Given the description of an element on the screen output the (x, y) to click on. 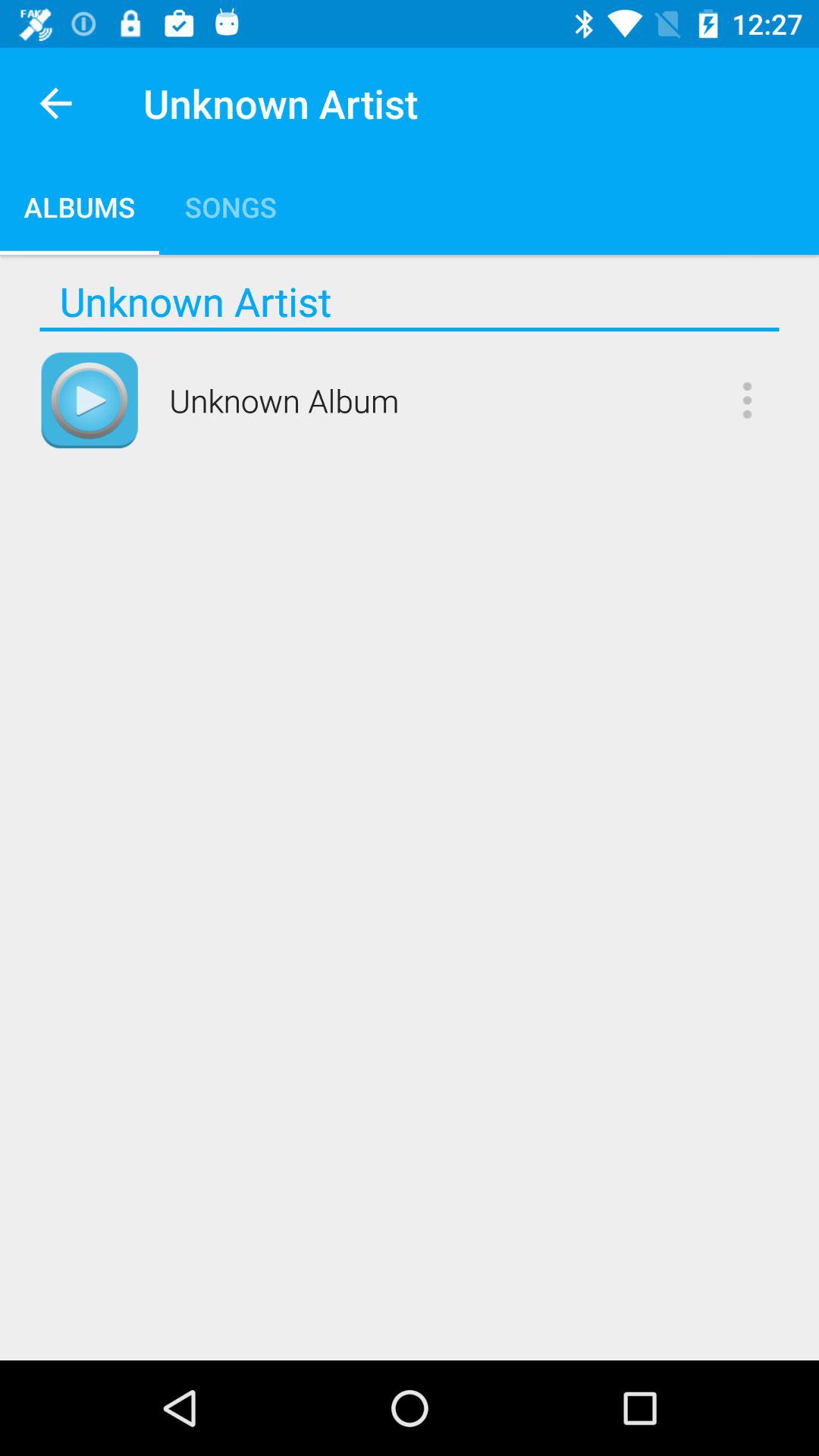
launch the icon below unknown artist icon (409, 329)
